Given the description of an element on the screen output the (x, y) to click on. 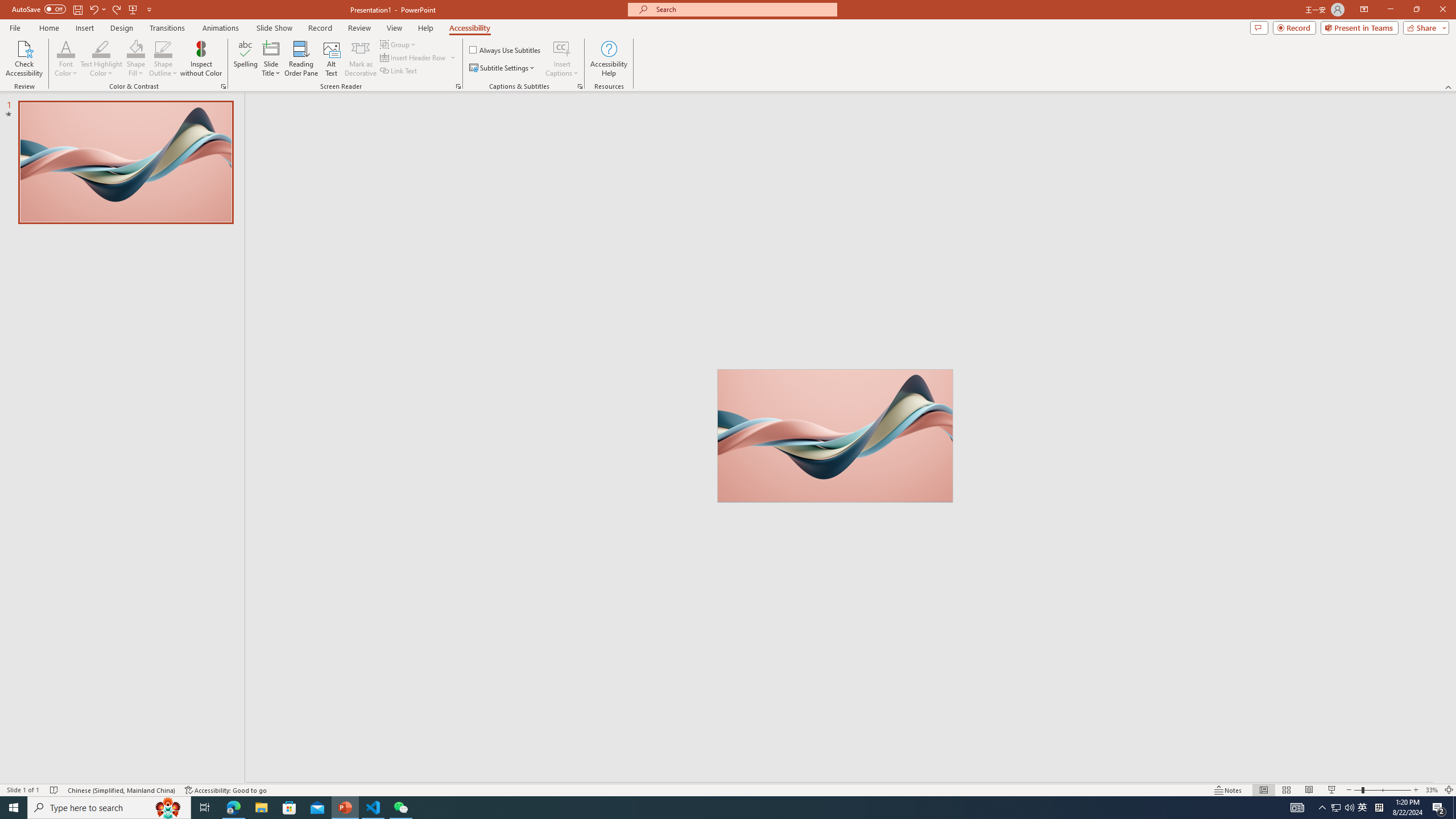
Screen Reader (458, 85)
